Given the description of an element on the screen output the (x, y) to click on. 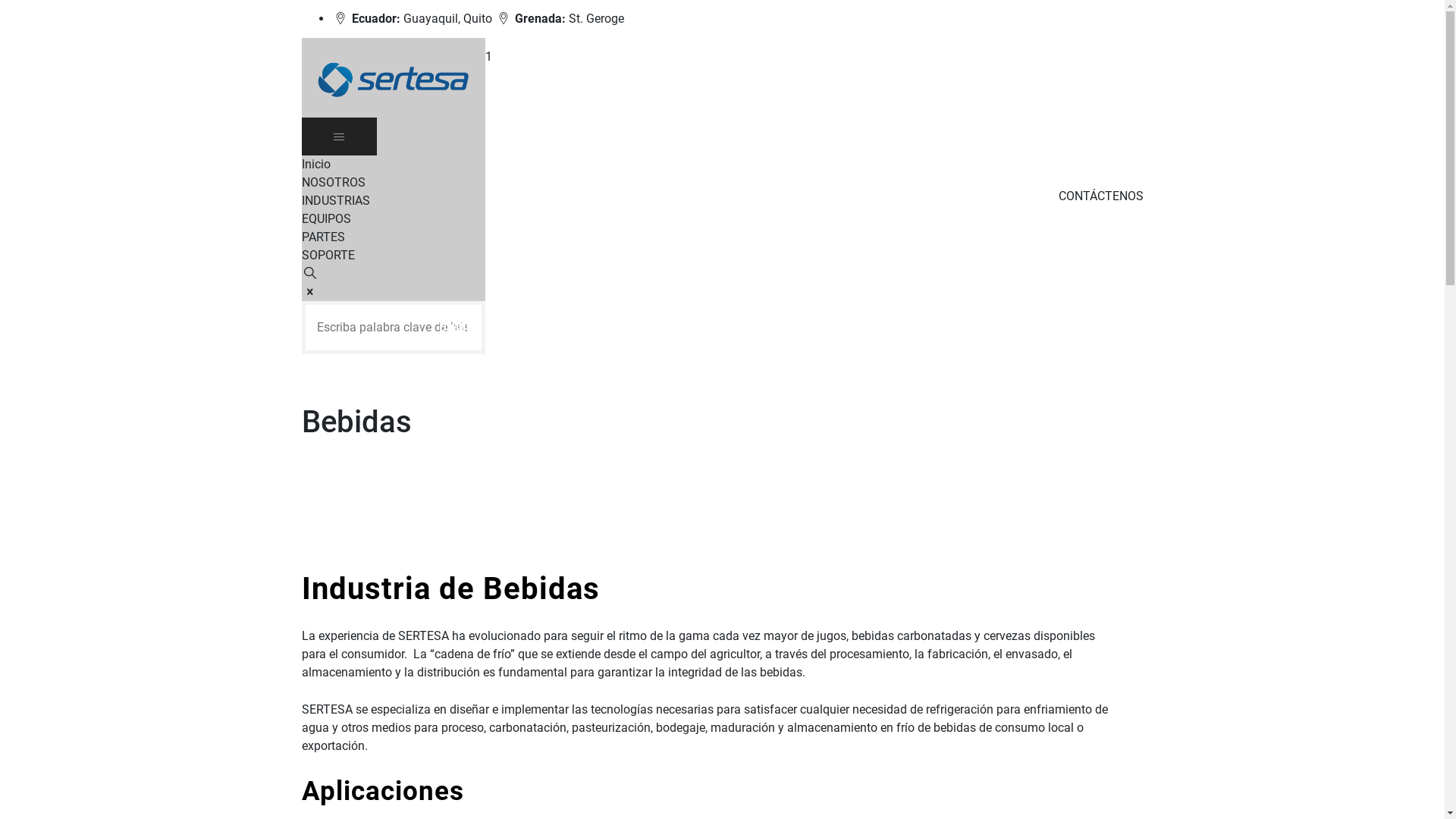
PARTES Element type: text (323, 236)
Inicio Element type: text (315, 163)
EQUIPOS Element type: text (326, 218)
Buscar Element type: text (458, 327)
Sertesa Element type: hover (392, 78)
SOPORTE Element type: text (327, 254)
INDUSTRIAS Element type: text (335, 200)
NOSOTROS Element type: text (333, 182)
